Given the description of an element on the screen output the (x, y) to click on. 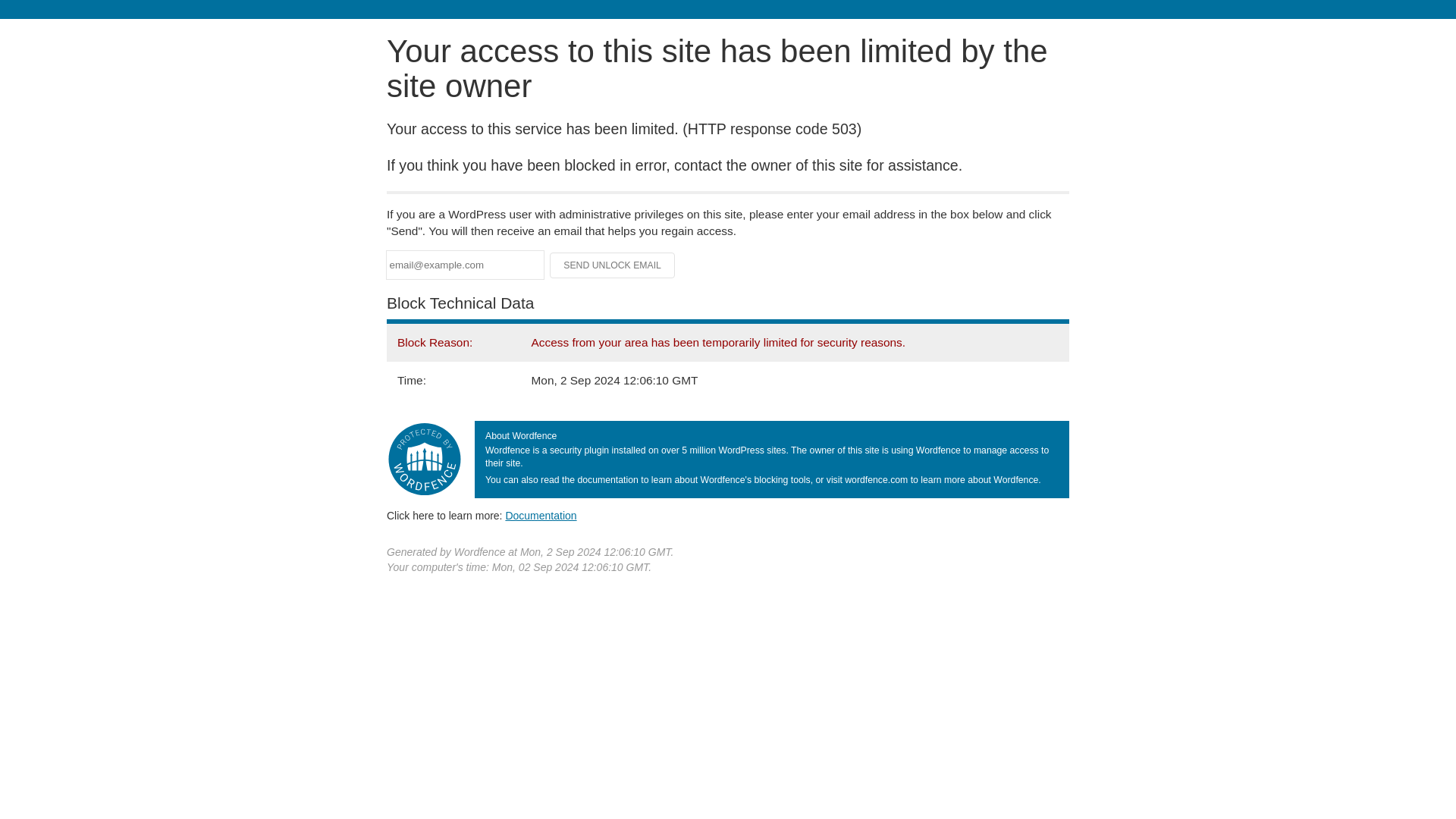
Documentation (540, 515)
Send Unlock Email (612, 265)
Send Unlock Email (612, 265)
